Given the description of an element on the screen output the (x, y) to click on. 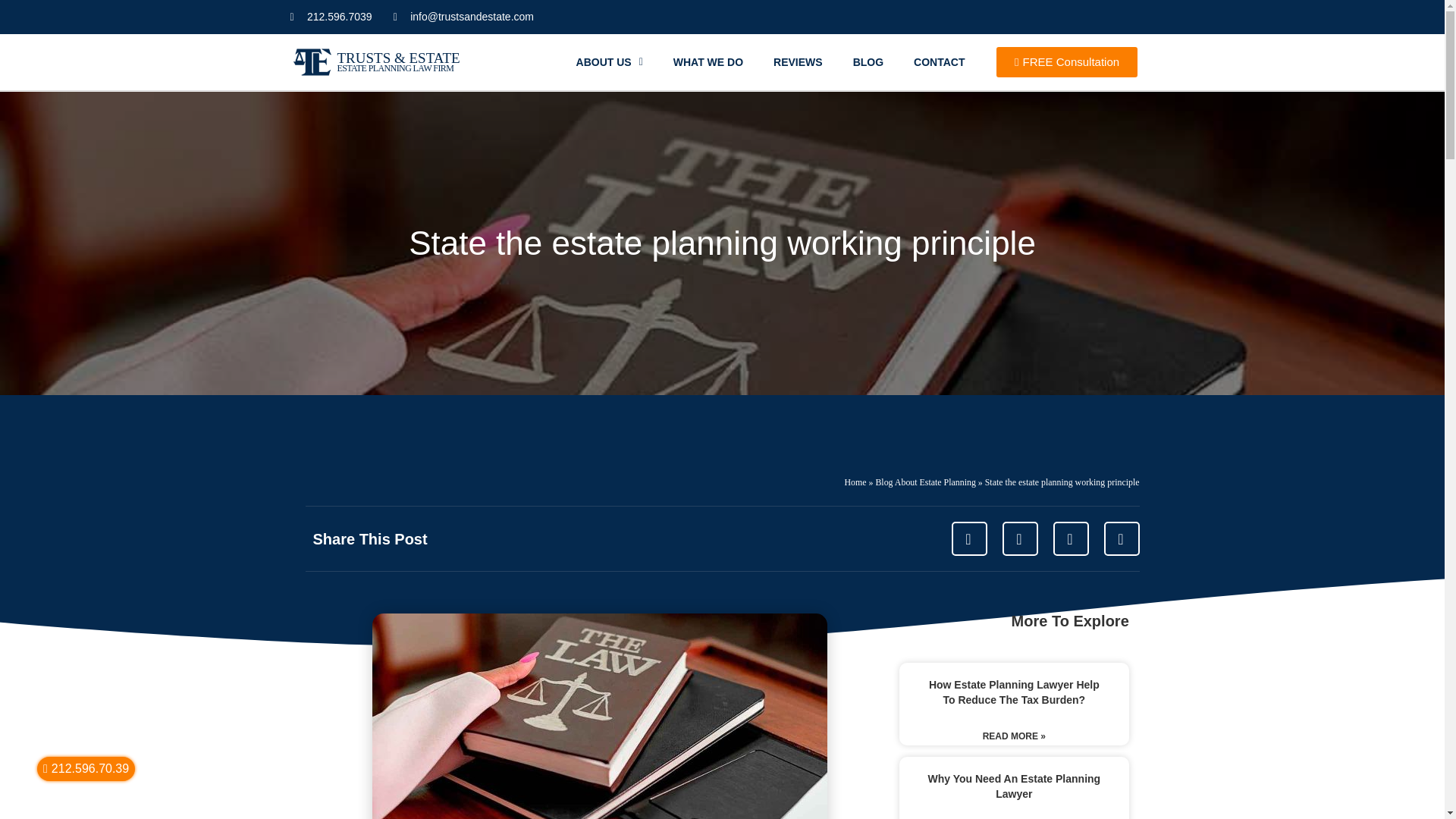
Home (855, 481)
Blog About Estate Planning (925, 481)
WHAT WE DO (708, 61)
ABOUT US (609, 61)
REVIEWS (798, 61)
CONTACT (938, 61)
Why You Need An Estate Planning Lawyer (1013, 786)
ESTATE PLANNING LAW FIRM (394, 67)
FREE Consultation (1066, 61)
212.596.70.39 (86, 768)
212.596.7039 (330, 16)
How Estate Planning Lawyer Help To Reduce The Tax Burden? (1013, 691)
BLOG (868, 61)
